Given the description of an element on the screen output the (x, y) to click on. 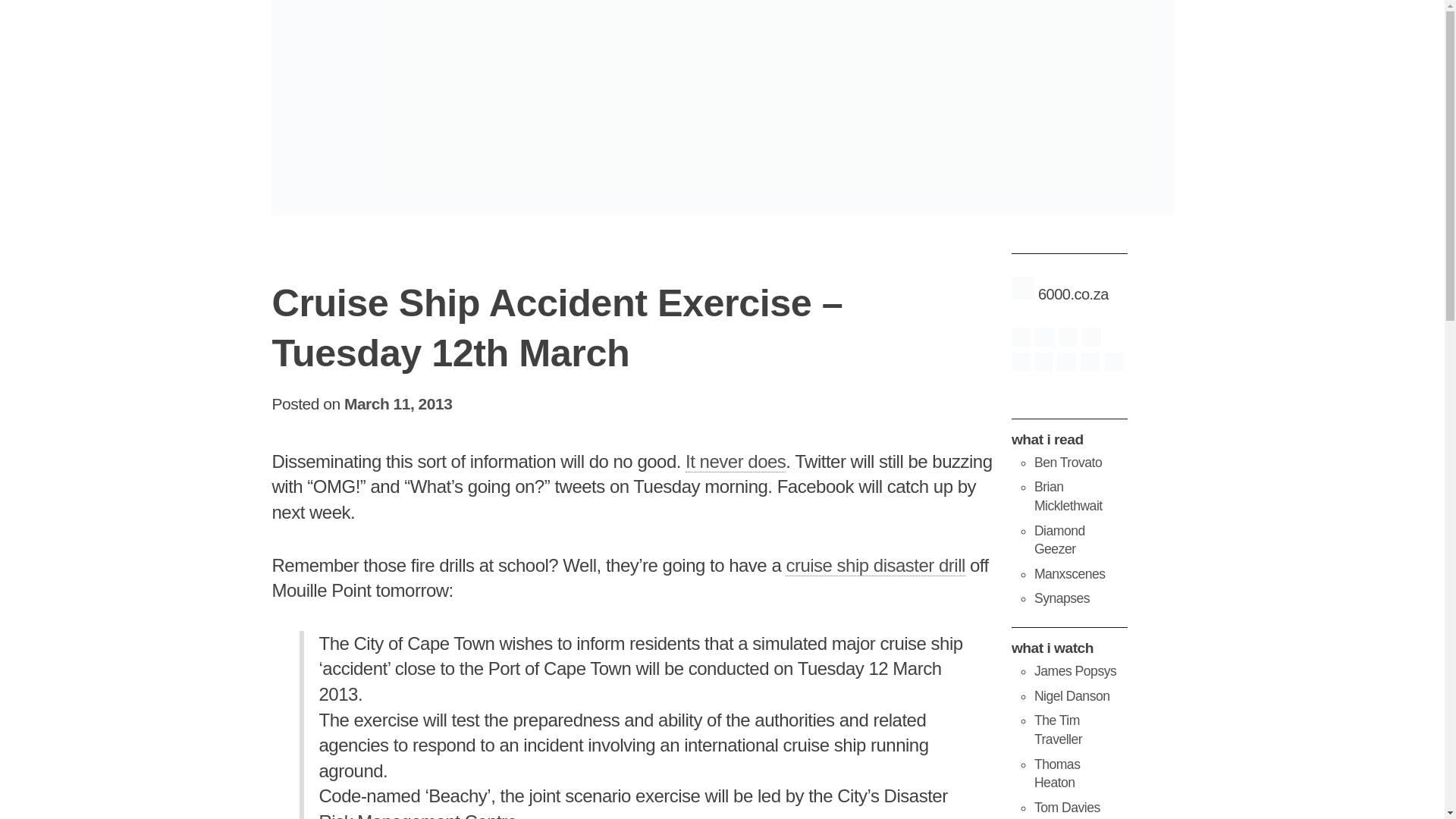
UK landscape photographer (1071, 695)
It never does (735, 461)
Synapses (1061, 598)
Eclectic mix of social commentary (1067, 496)
Brian Micklethwait (1067, 496)
Daily tales of London (1058, 540)
cruise ship disaster drill (874, 565)
Geoguessr God (1066, 807)
Ben Trovato (1067, 462)
What more must they do? (735, 461)
jacques talks mostly sense (1061, 598)
Diamond Geezer (1058, 540)
March 11, 2013 (397, 403)
Photography advice from the UK (1074, 670)
Link (874, 565)
